Given the description of an element on the screen output the (x, y) to click on. 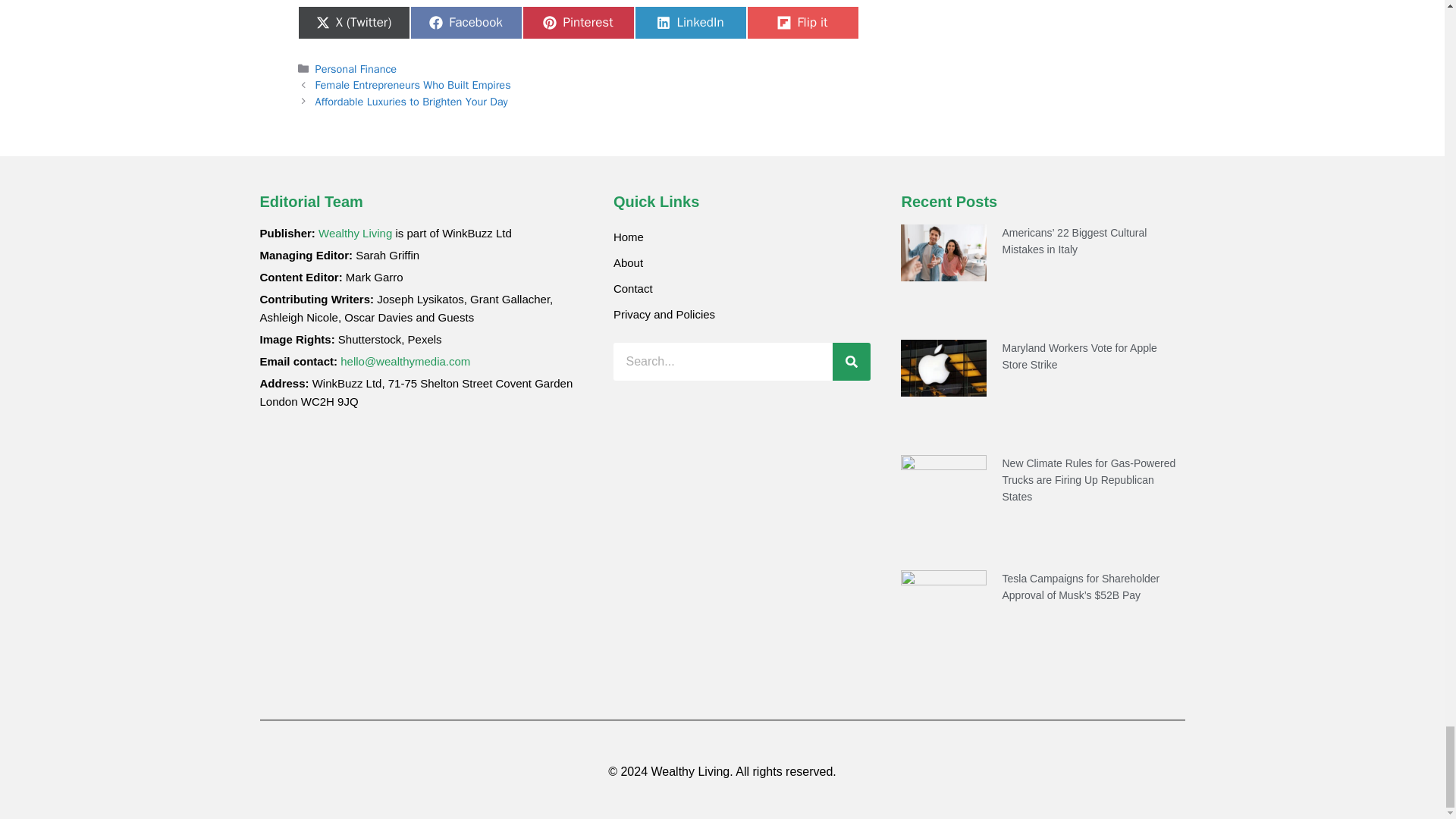
Wealthy Living (354, 232)
Home (741, 237)
Contact (741, 289)
Facebook (465, 22)
Privacy and Policies (741, 314)
Female Entrepreneurs Who Built Empires (413, 84)
Personal Finance (356, 69)
Pinterest (577, 22)
LinkedIn (689, 22)
About (741, 263)
